Given the description of an element on the screen output the (x, y) to click on. 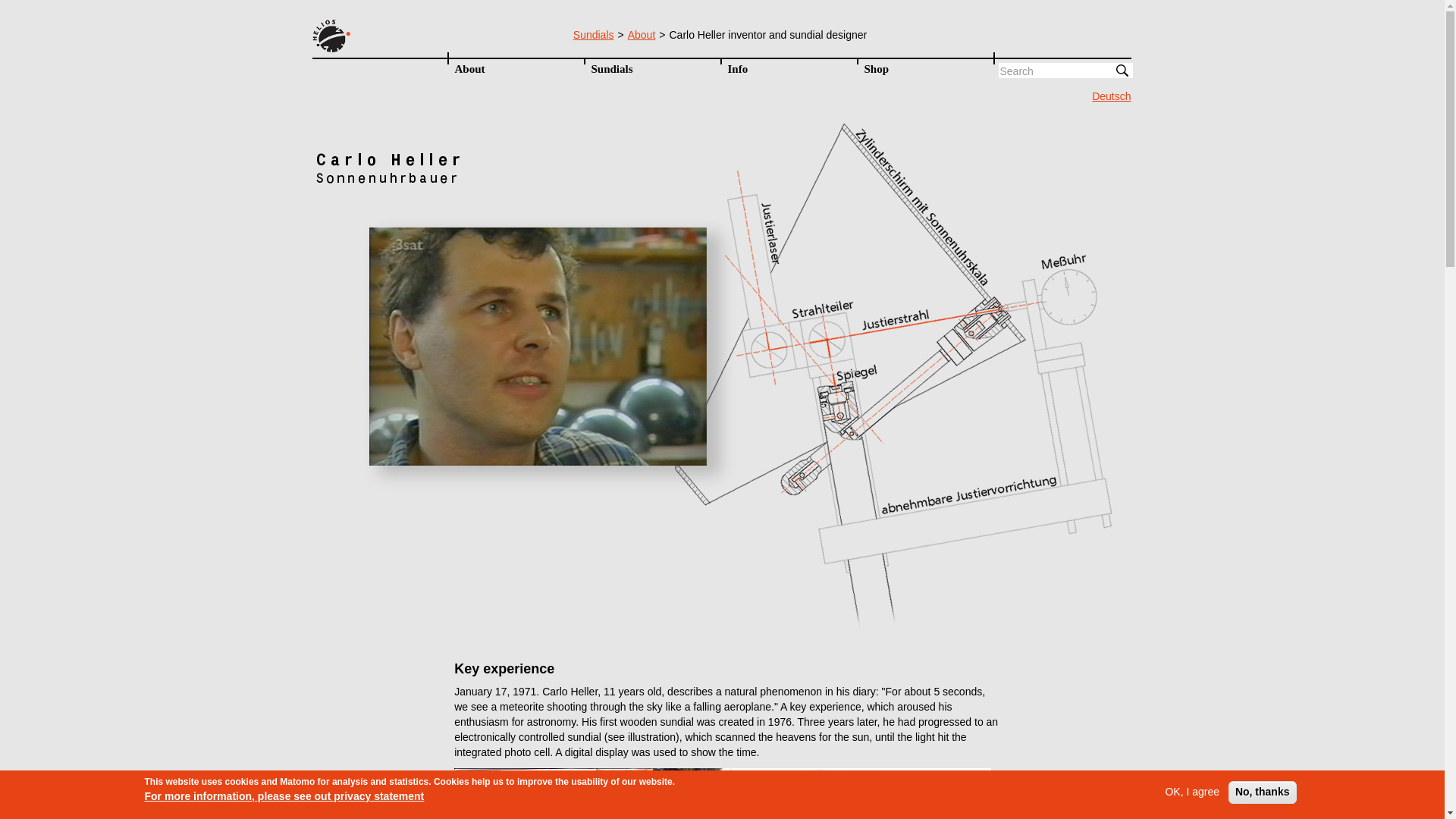
Sundials (593, 34)
No, thanks (1262, 792)
Sundials (651, 68)
Enter the terms you wish to search for. (1064, 70)
About (641, 34)
Home (379, 34)
Info (788, 68)
Deutsch (1111, 96)
Shop (924, 68)
About (514, 68)
For more information, please see out privacy statement (283, 796)
OK, I agree (1191, 792)
